Given the description of an element on the screen output the (x, y) to click on. 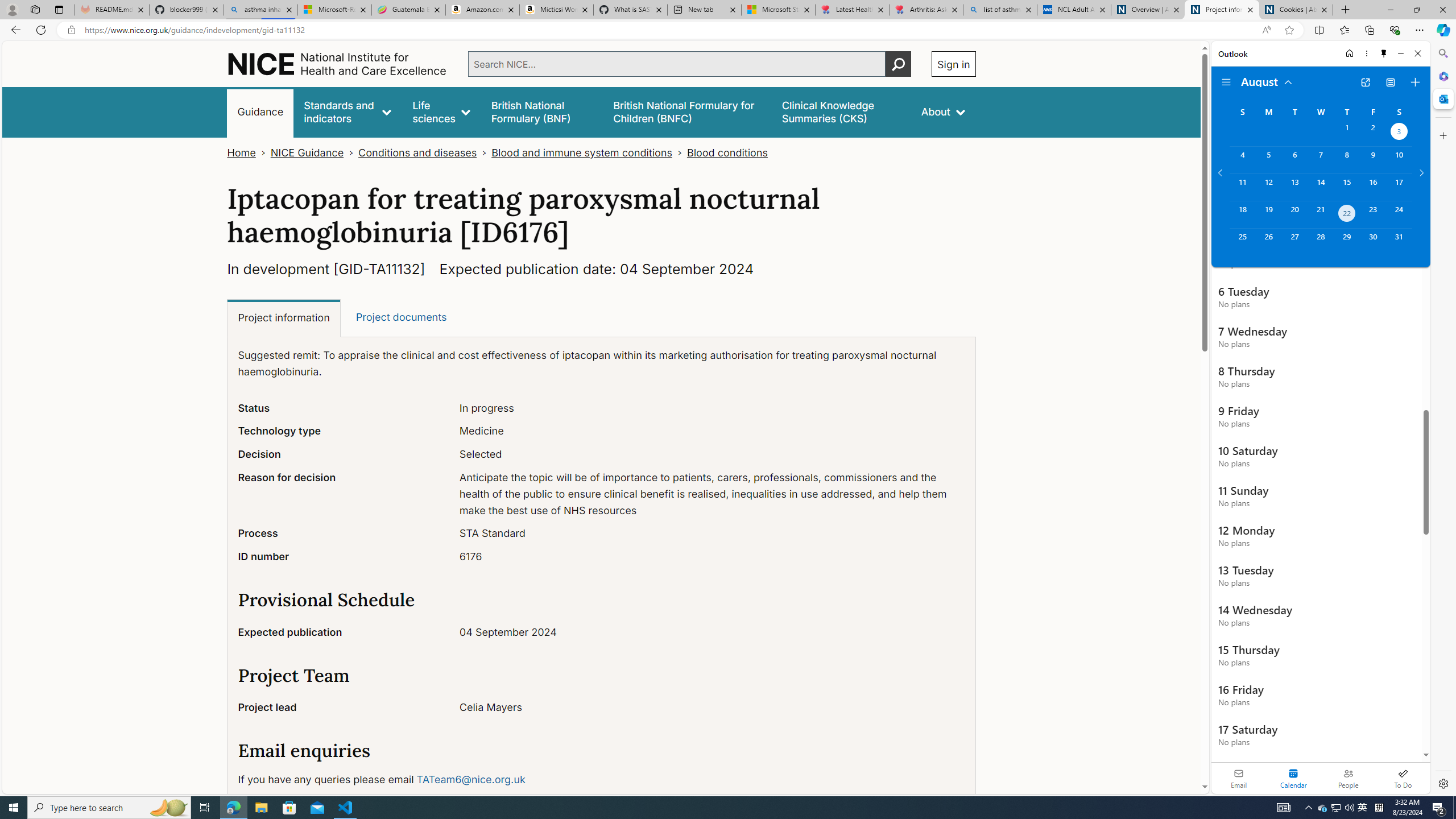
Conditions and diseases> (425, 152)
Life sciences (440, 111)
Saturday, August 24, 2024.  (1399, 214)
Monday, August 5, 2024.  (1268, 159)
Copilot (Ctrl+Shift+.) (1442, 29)
Tuesday, August 6, 2024.  (1294, 159)
Unpin side pane (1383, 53)
Monday, August 26, 2024.  (1268, 241)
NICE Guidance> (314, 152)
Guidance (260, 111)
Project documents (401, 317)
Guidance (260, 111)
